Given the description of an element on the screen output the (x, y) to click on. 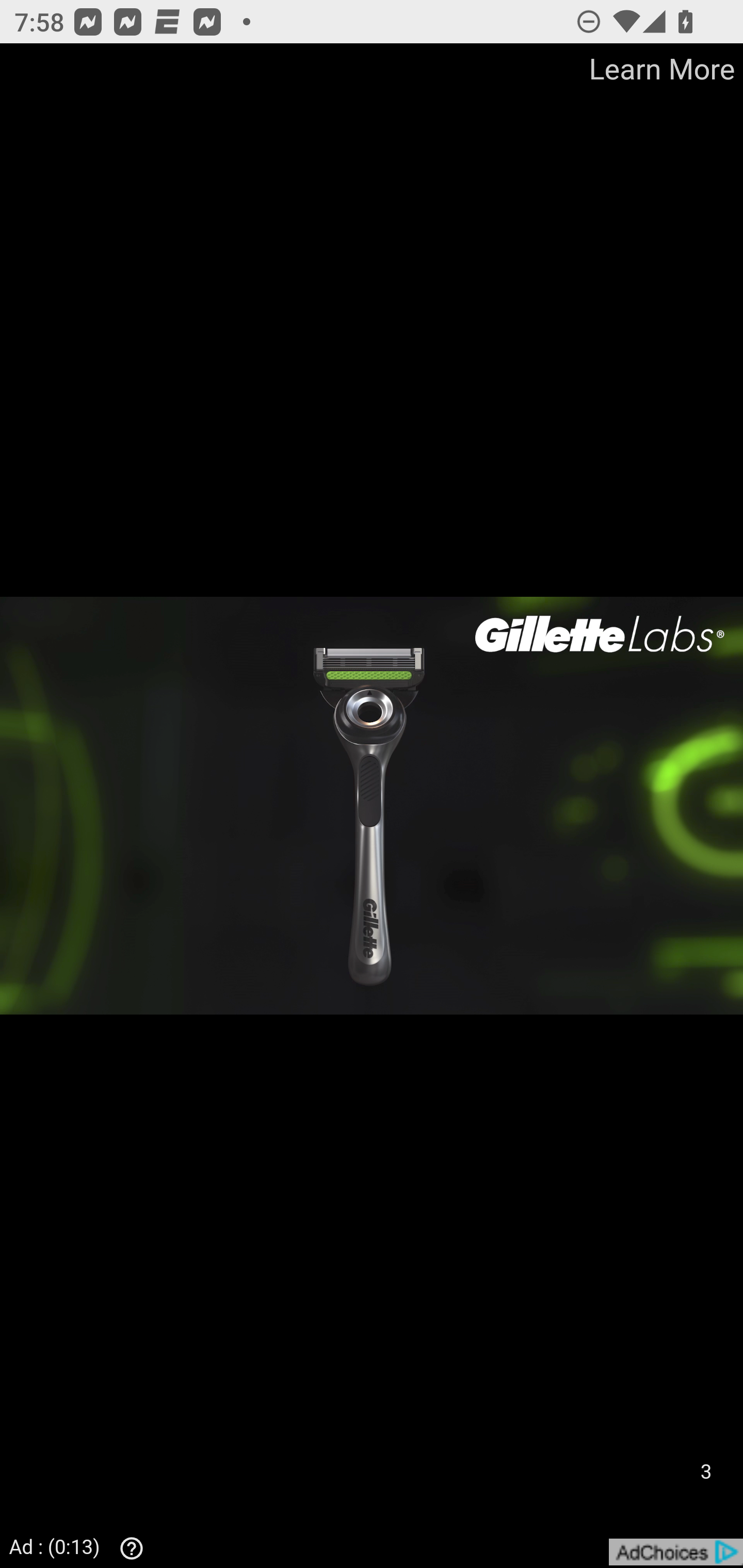
Learn More (660, 69)
Skip Ad Countdown (705, 1471)
Ad : (0:13) Why This Ad? (82, 1546)
Why This Ad? (126, 1548)
get?name=admarker-full-tl (675, 1552)
